Given the description of an element on the screen output the (x, y) to click on. 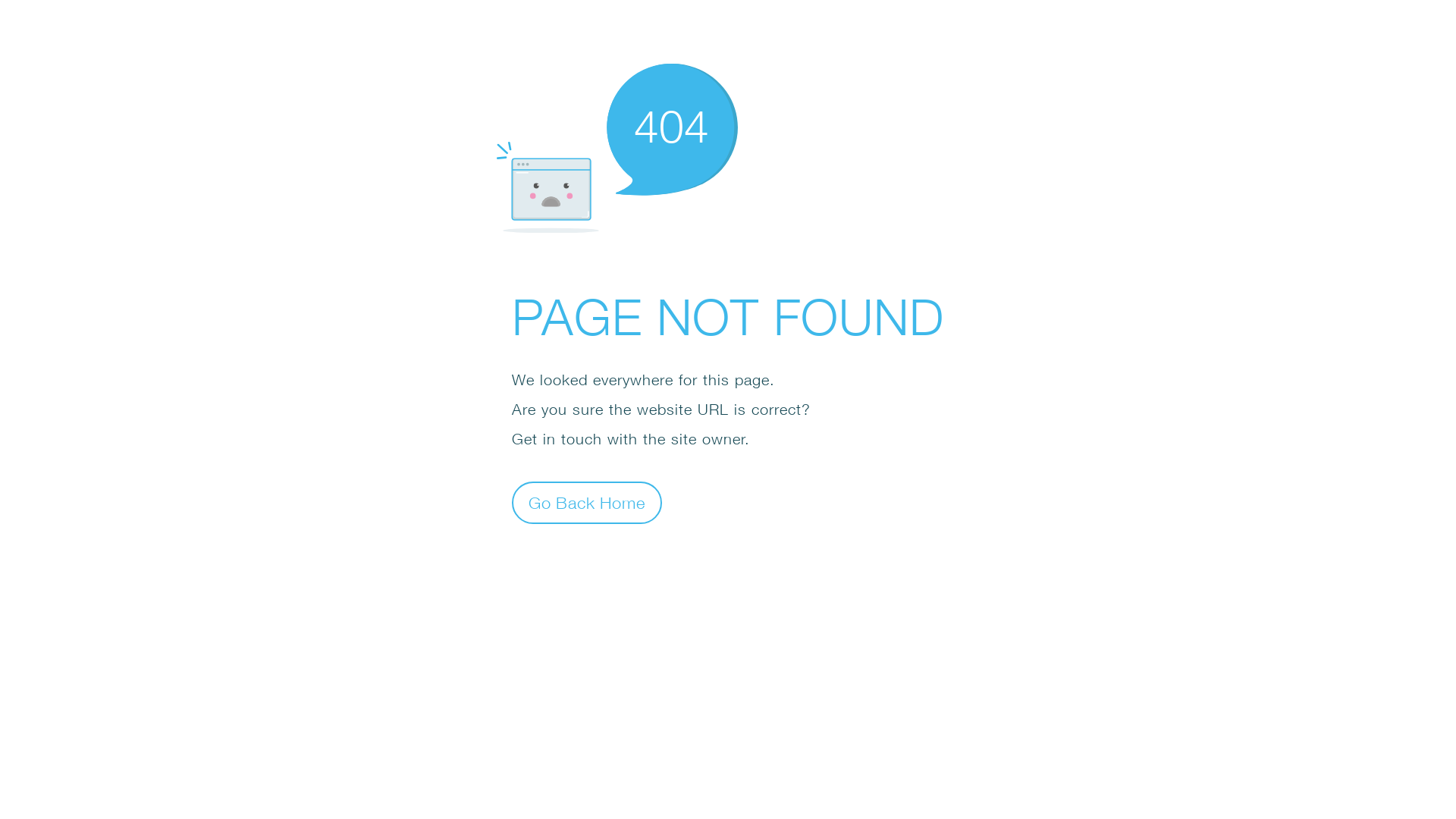
Go Back Home Element type: text (586, 502)
